Given the description of an element on the screen output the (x, y) to click on. 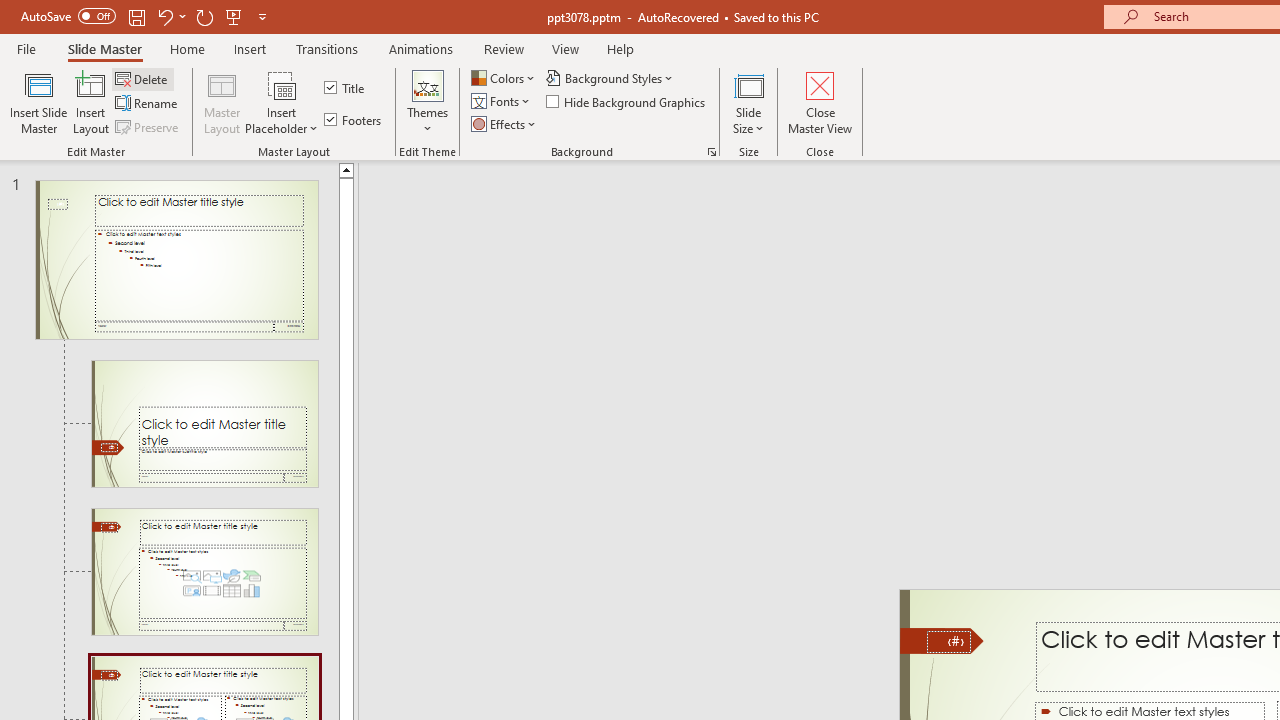
Effects (505, 124)
Insert Layout (91, 102)
Rename (148, 103)
Title (346, 87)
Colors (504, 78)
Content (282, 84)
Line up (345, 169)
Footers (354, 119)
Slide Title and Content Layout: used by no slides (204, 572)
Slide Number (948, 641)
